Given the description of an element on the screen output the (x, y) to click on. 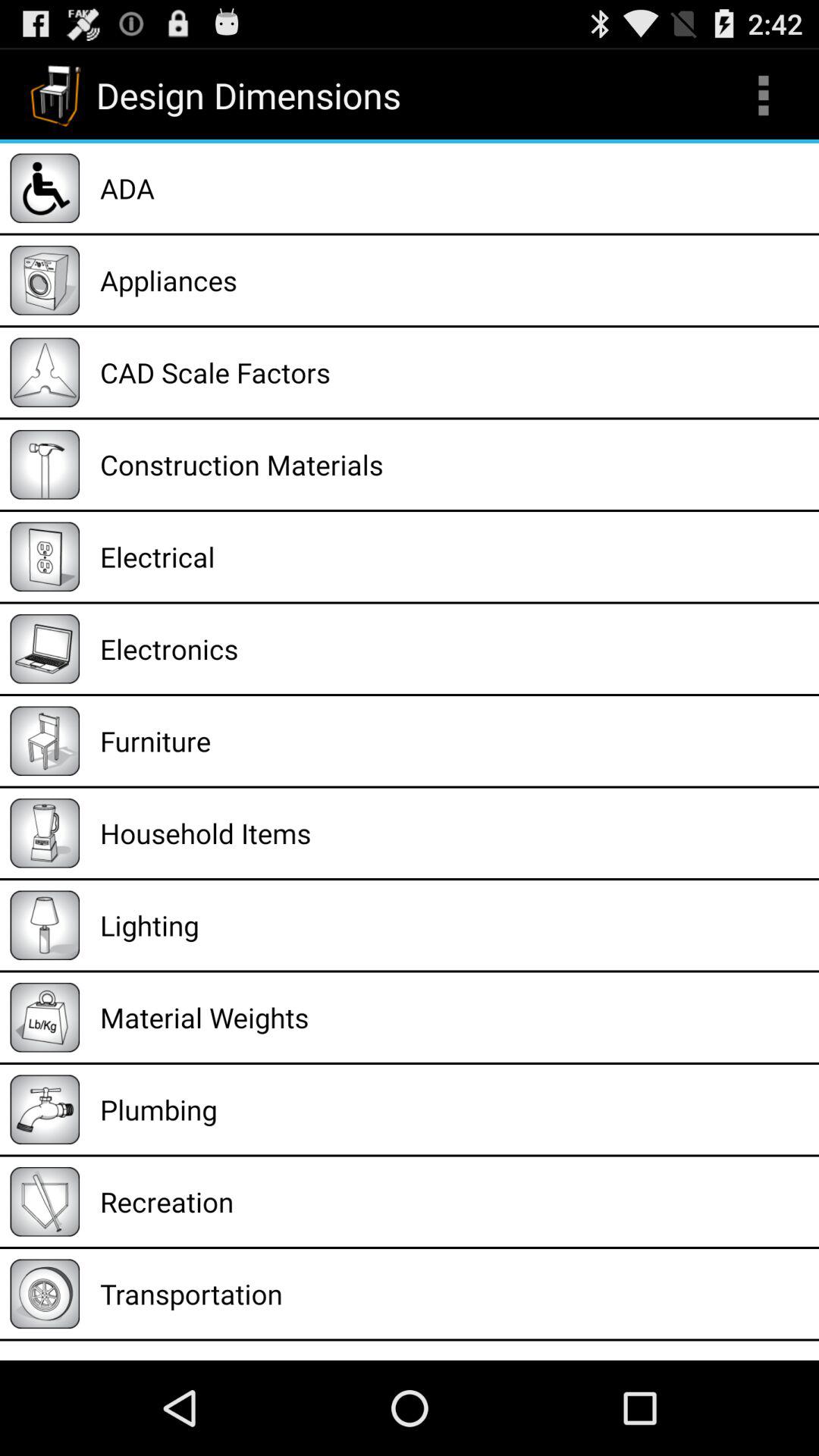
turn on the household items icon (454, 833)
